Given the description of an element on the screen output the (x, y) to click on. 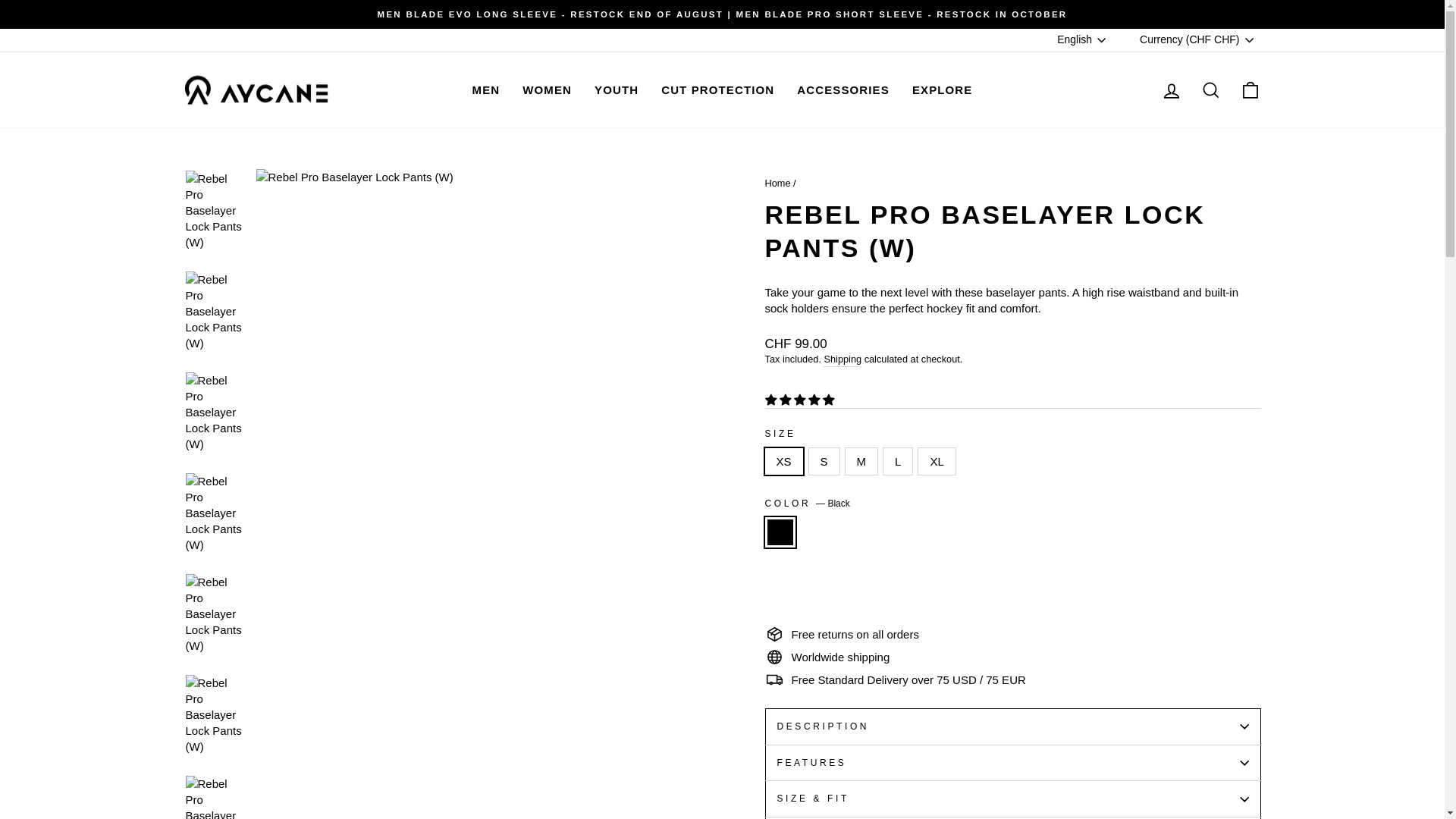
Back to the frontpage (777, 183)
